Given the description of an element on the screen output the (x, y) to click on. 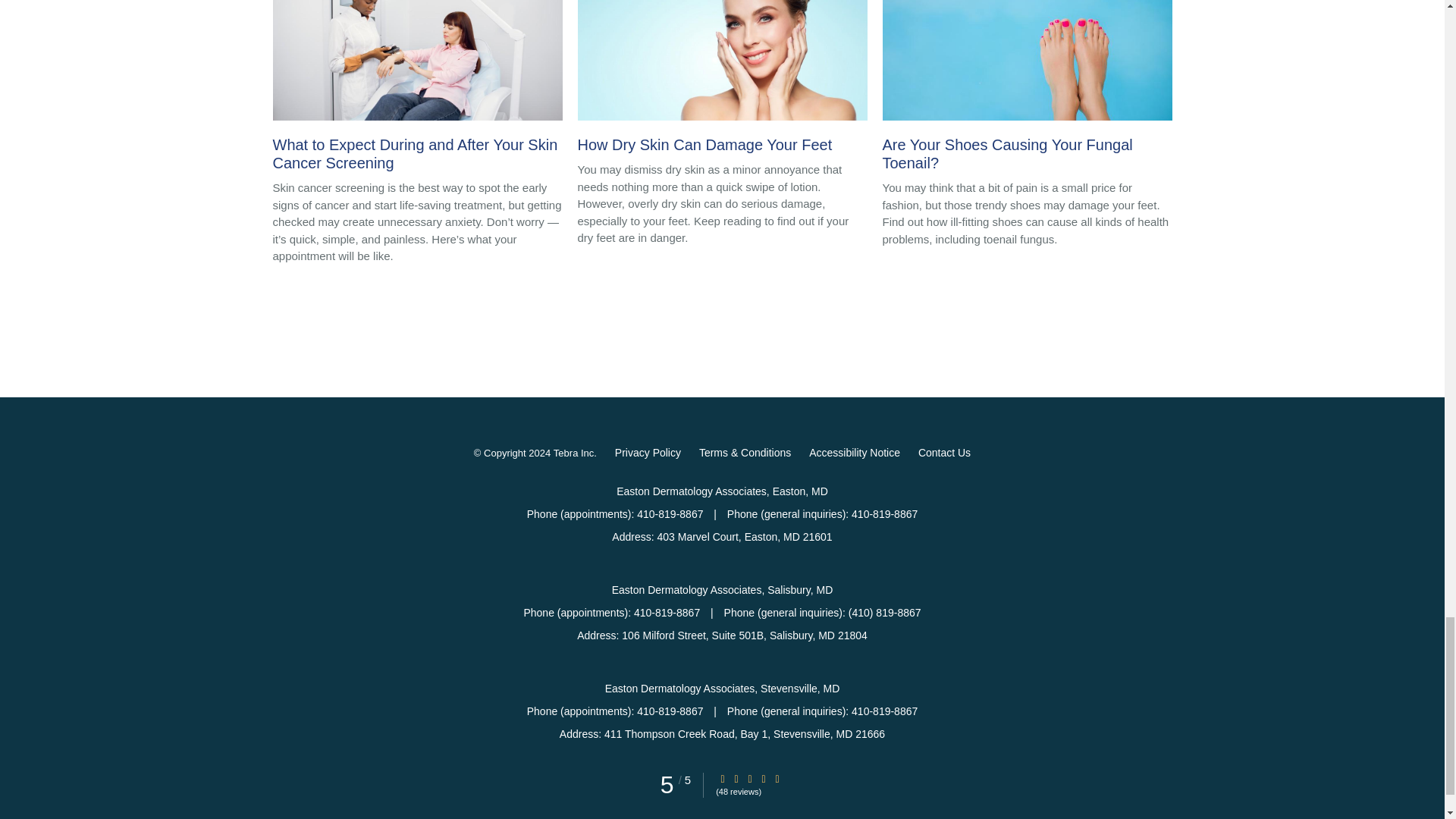
Privacy Policy (647, 452)
What to Expect During and After Your Skin Cancer Screening (417, 89)
Star Rating (763, 778)
Star Rating (735, 778)
Accessibility Notice (854, 452)
Star Rating (722, 778)
Tebra Inc (573, 453)
Contact Us (944, 452)
Are Your Shoes Causing Your Fungal Toenail? (1027, 89)
Star Rating (749, 778)
